Given the description of an element on the screen output the (x, y) to click on. 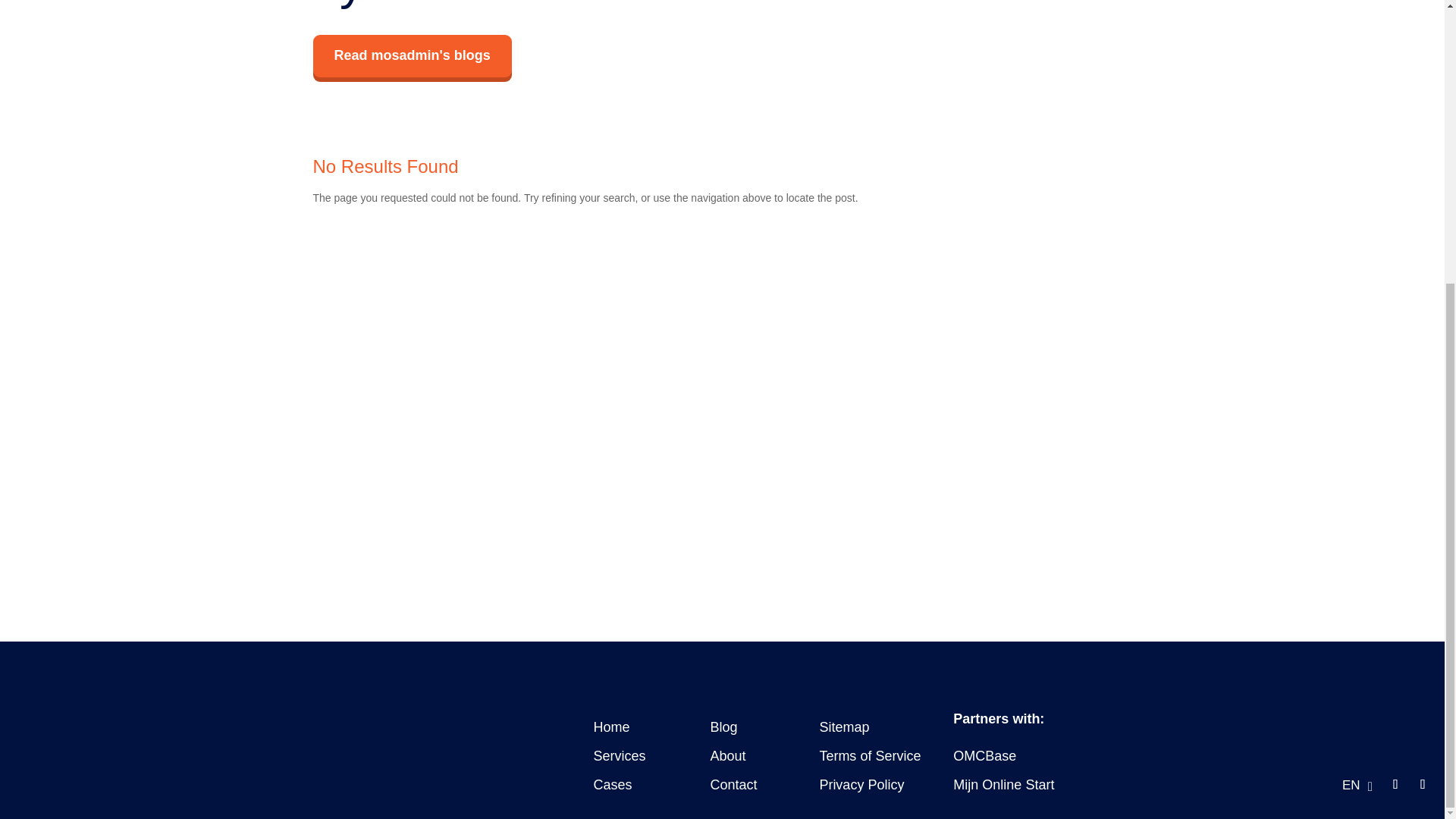
Follow on dribbble (1430, 783)
Logo Makeitmax-white (337, 782)
Follow on LinkedIn (1402, 783)
